Given the description of an element on the screen output the (x, y) to click on. 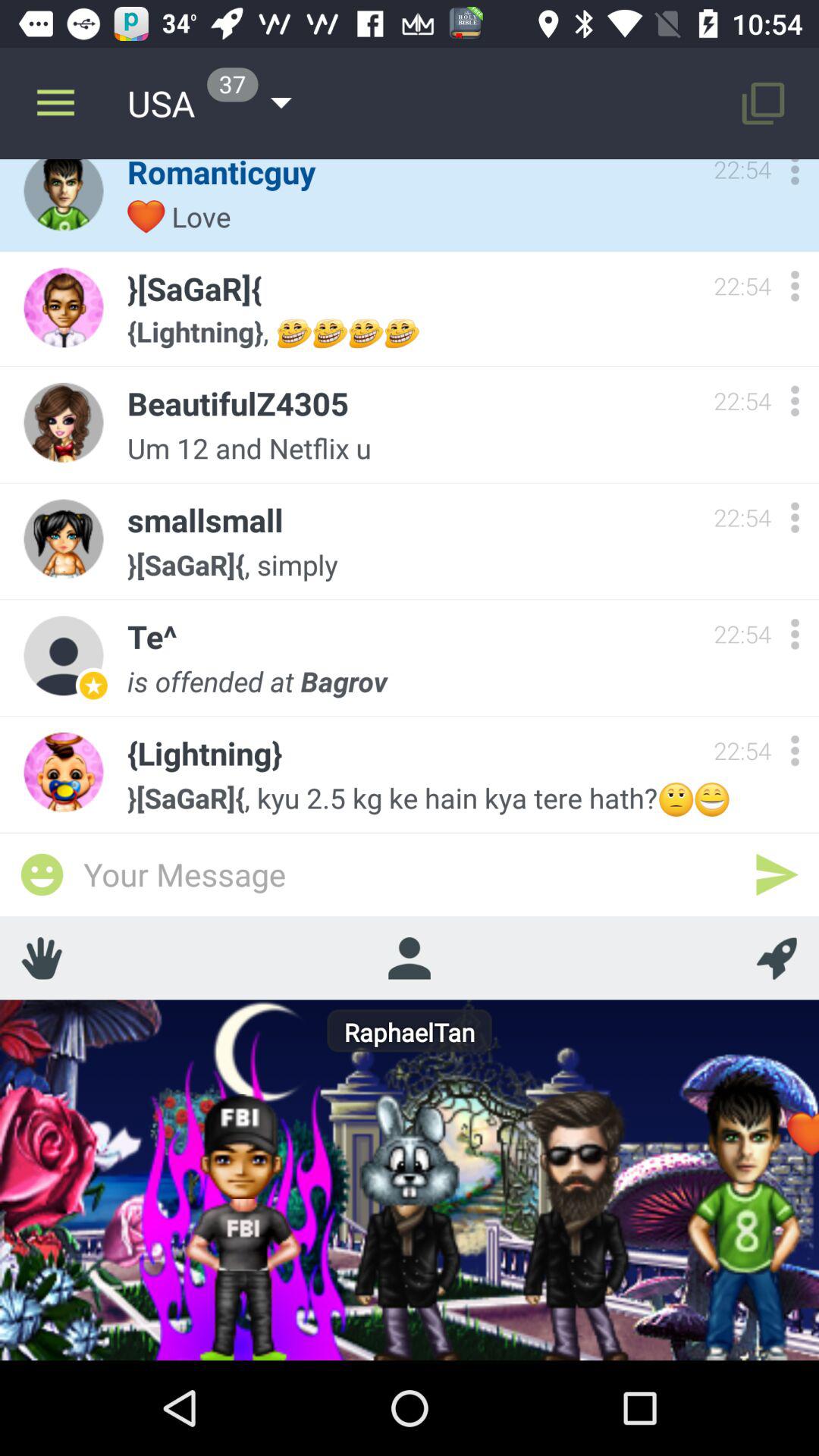
select the image bar (41, 874)
